Given the description of an element on the screen output the (x, y) to click on. 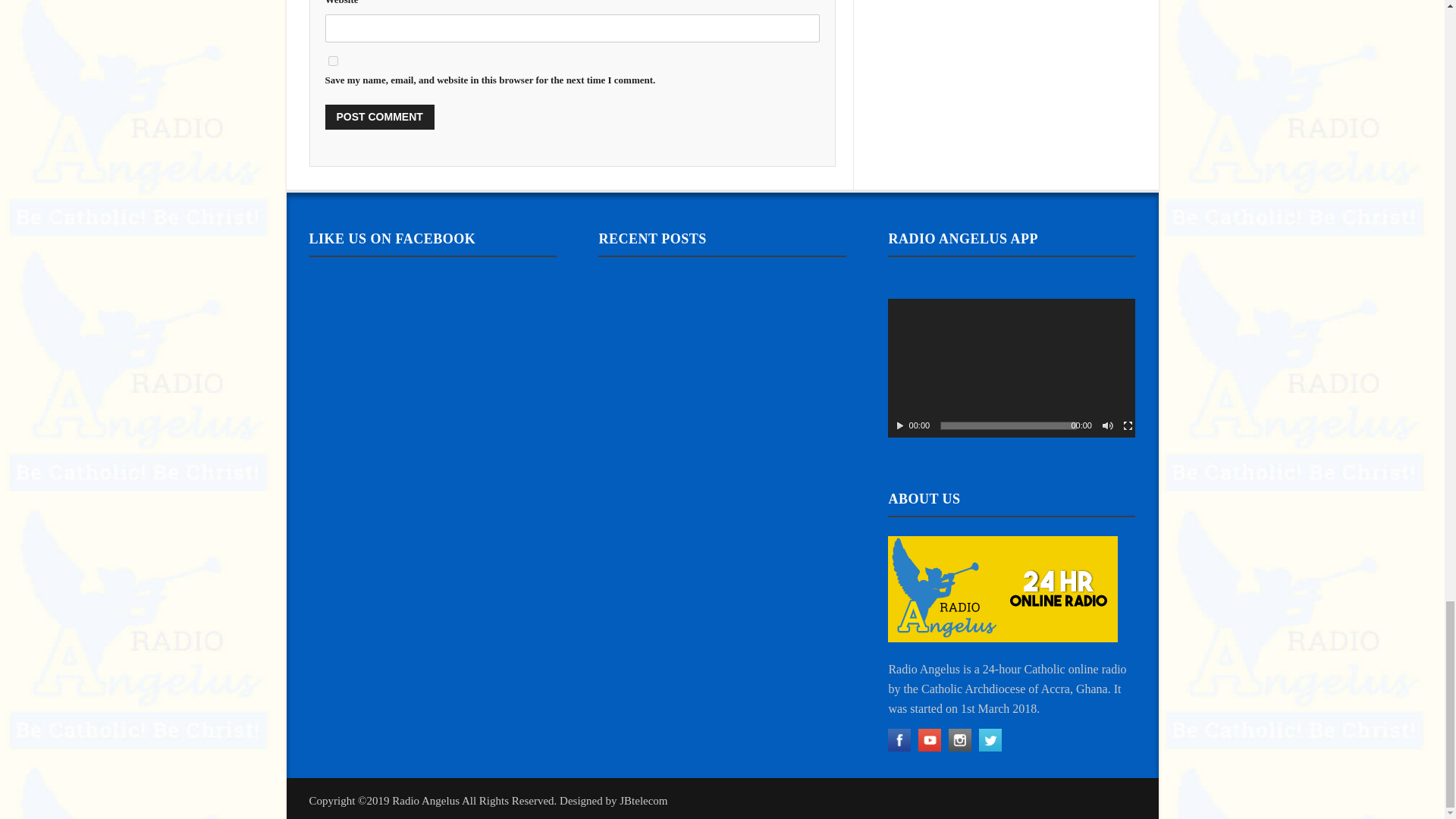
Post Comment (378, 116)
yes (332, 61)
